Given the description of an element on the screen output the (x, y) to click on. 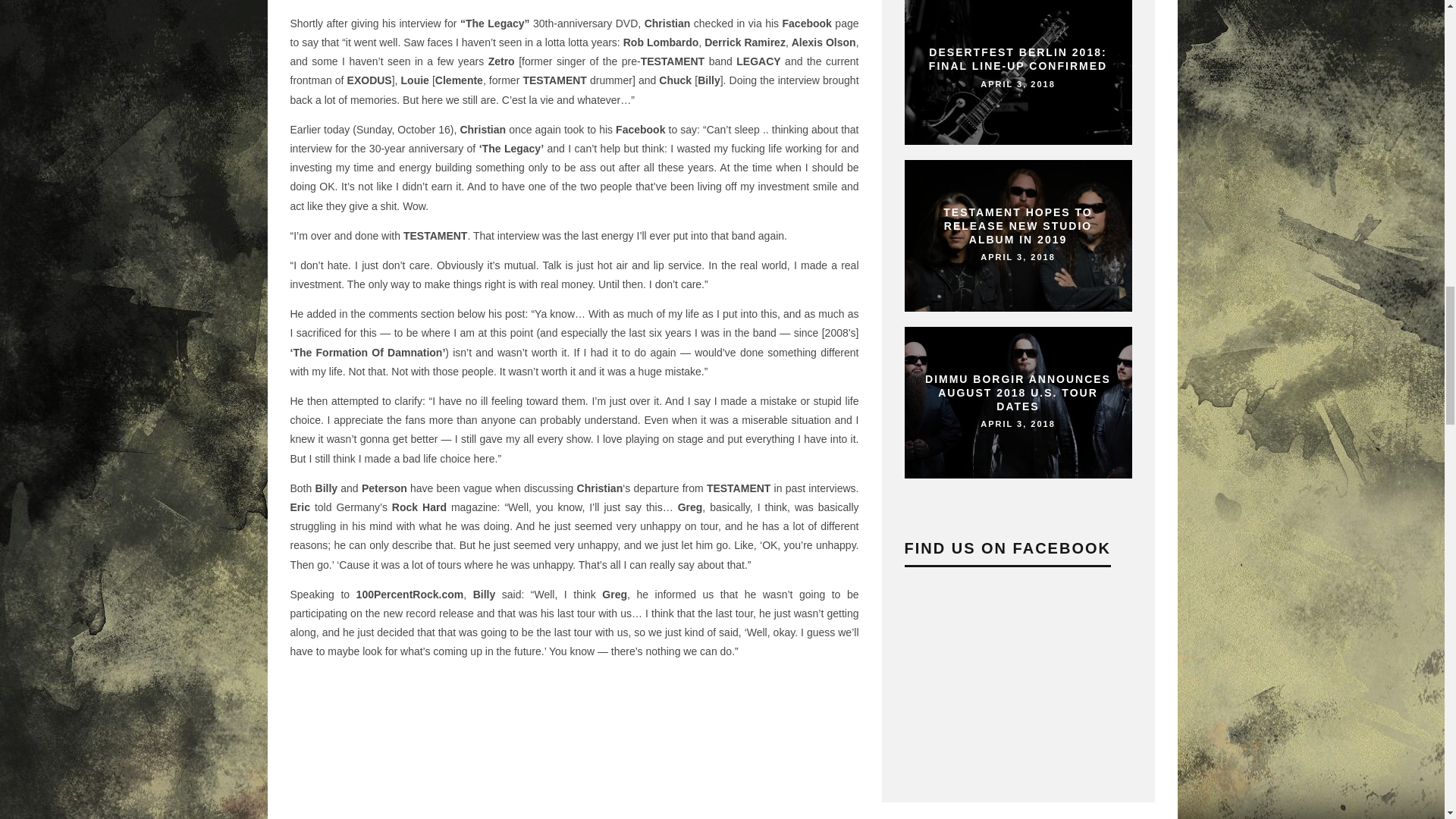
fb:post Facebook Social Plugin (531, 745)
